Given the description of an element on the screen output the (x, y) to click on. 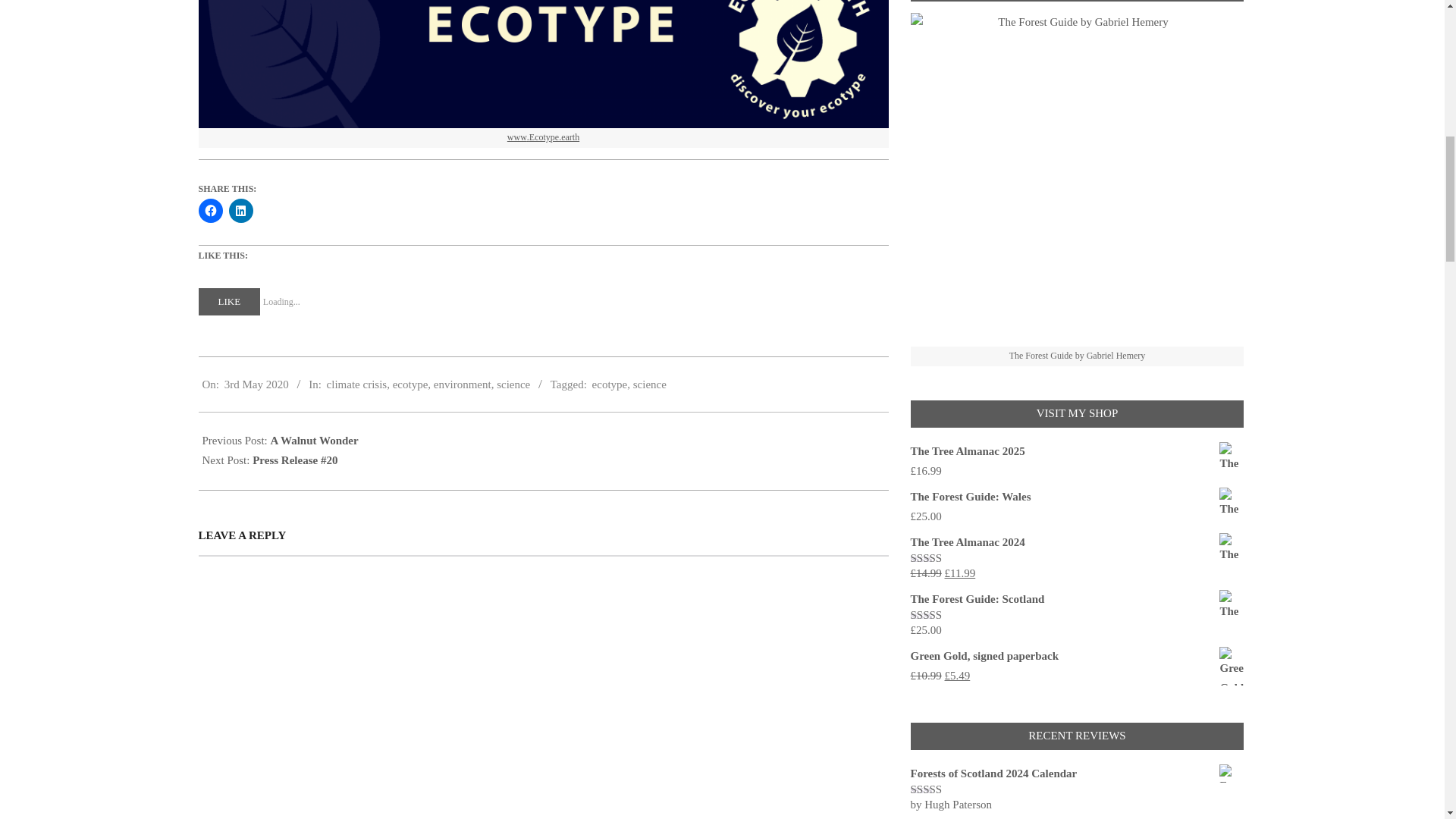
science (512, 384)
environment (462, 384)
ecotype (410, 384)
Ecotype.earth (554, 137)
www (516, 137)
ecotype (609, 384)
science (649, 384)
climate crisis (356, 384)
A Walnut Wonder (314, 440)
